Given the description of an element on the screen output the (x, y) to click on. 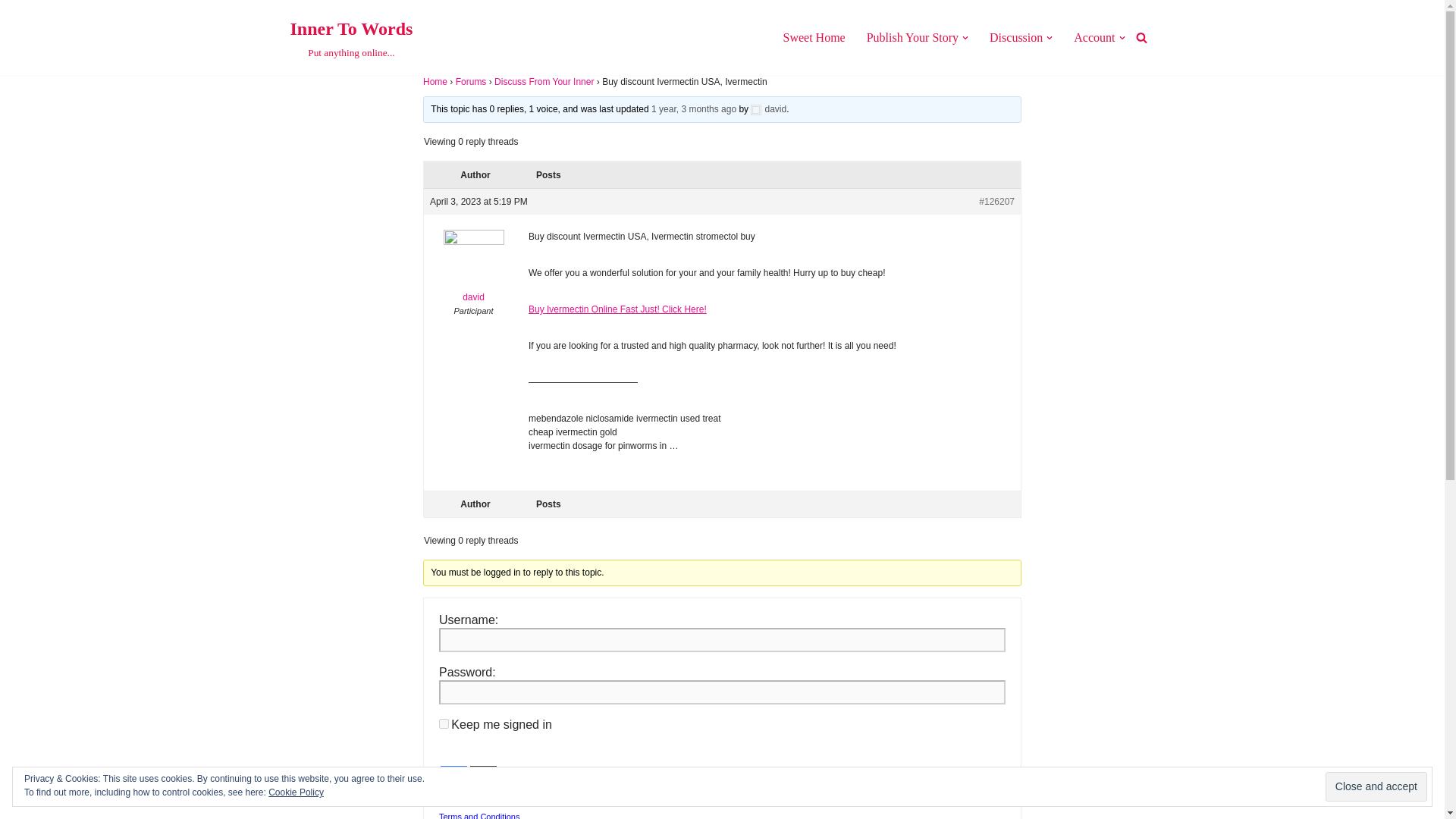
forever (443, 723)
Buy discount Ivermectin USA, Ivermectin (693, 109)
View david's profile (768, 109)
Sweet Home (813, 37)
Discussion (1016, 37)
Skip to content (11, 31)
1 (350, 37)
Login with Google (443, 798)
Close and accept (454, 778)
Account (1375, 786)
View david's profile (1094, 37)
Login with Wordpress (472, 269)
Publish Your Story (483, 778)
